Given the description of an element on the screen output the (x, y) to click on. 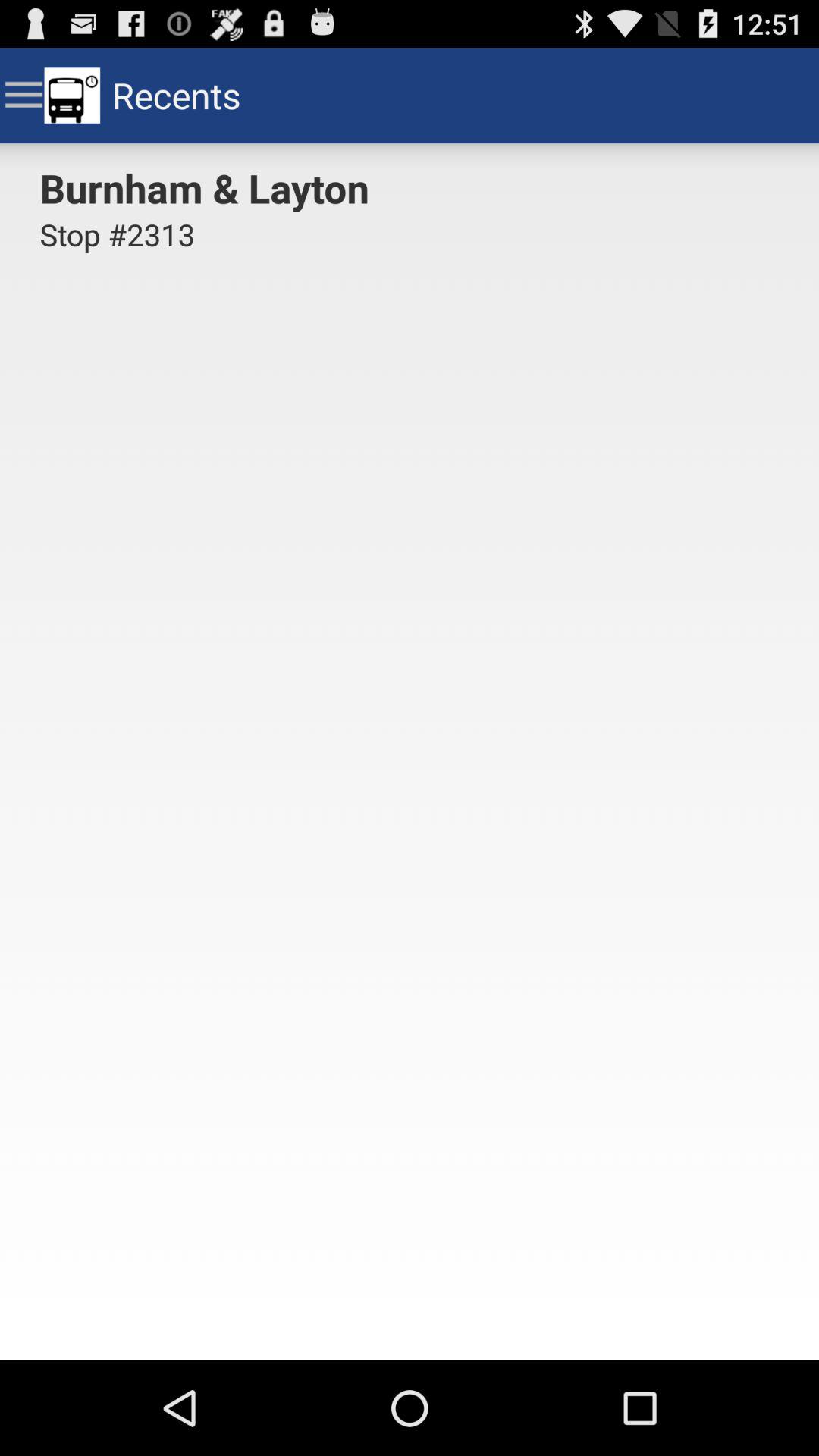
select item below burnham & layton  item (117, 243)
